Given the description of an element on the screen output the (x, y) to click on. 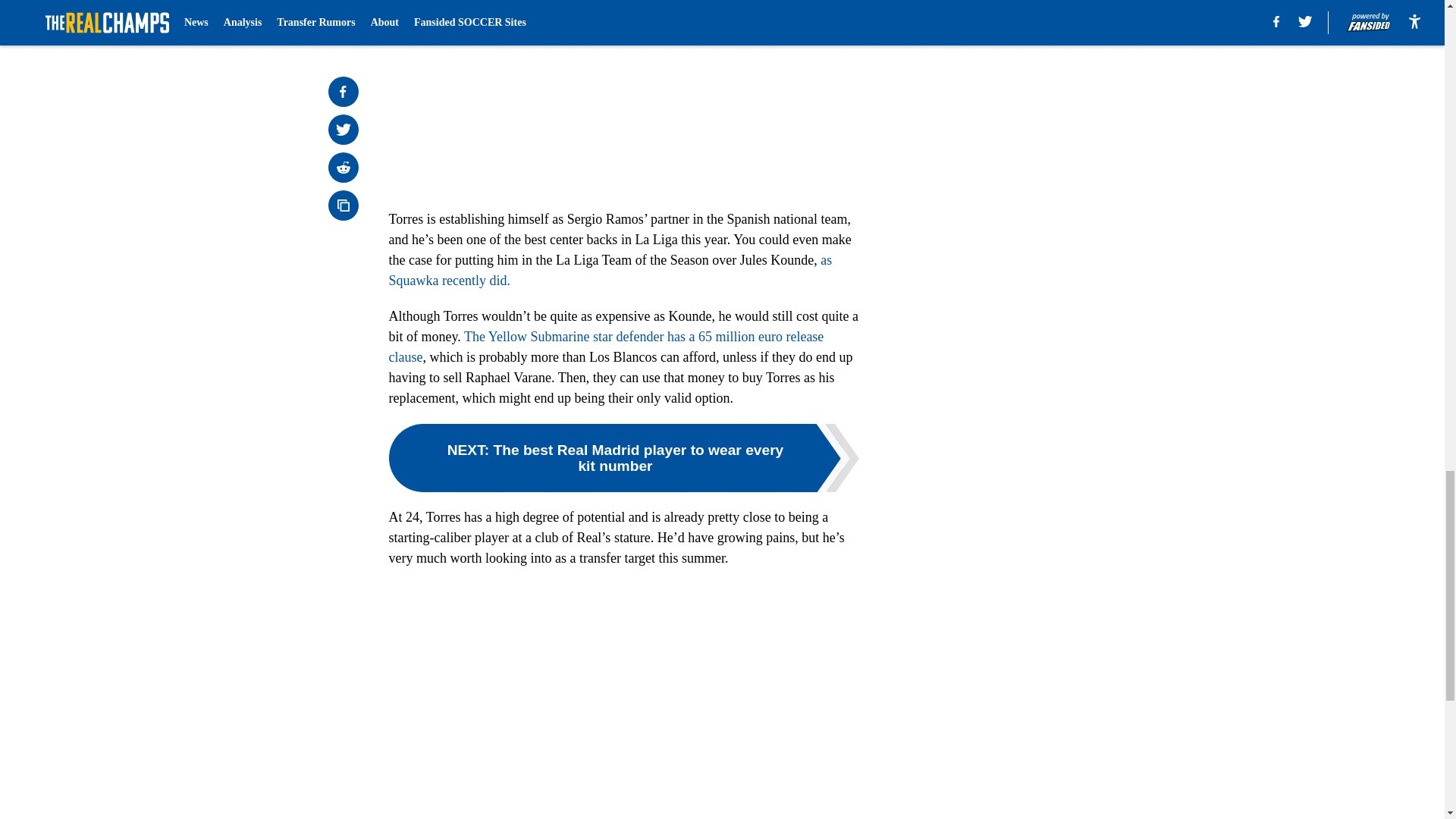
NEXT: The best Real Madrid player to wear every kit number (623, 458)
as Squawka recently did. (609, 270)
